Given the description of an element on the screen output the (x, y) to click on. 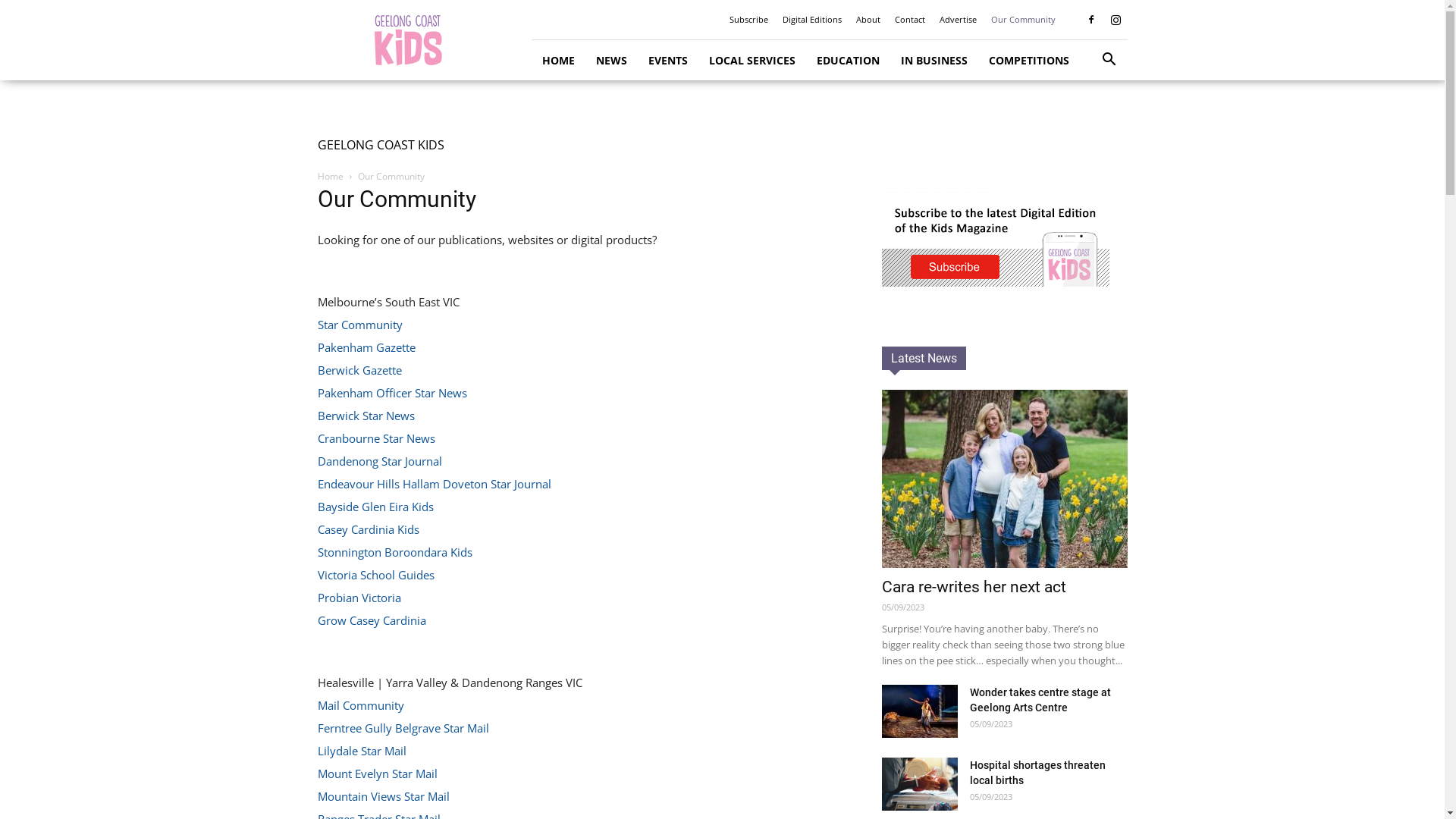
Ferntree Gully Belgrave Star Mail Element type: text (402, 727)
Mail Community Element type: text (359, 704)
Dandenong Star Journal Element type: text (378, 460)
Victoria School Guides Element type: text (374, 574)
COMPETITIONS Element type: text (1028, 60)
LOCAL SERVICES Element type: text (751, 60)
NEWS Element type: text (611, 60)
Bayside Glen Eira Kids Element type: text (374, 506)
Advertise Element type: text (956, 19)
Wonder takes centre stage at Geelong Arts Centre Element type: hover (919, 710)
Cara re-writes her next act Element type: hover (1003, 478)
Hospital shortages threaten local births Element type: hover (919, 783)
Berwick Gazette Element type: text (358, 369)
Grow Casey Cardinia Element type: text (370, 619)
Lilydale Star Mail Element type: text (360, 750)
Wonder takes centre stage at Geelong Arts Centre Element type: text (1039, 699)
Hospital shortages threaten local births Element type: text (1036, 772)
Instagram Element type: hover (1115, 19)
EVENTS Element type: text (667, 60)
Facebook Element type: hover (1090, 19)
Cara re-writes her next act Element type: text (973, 586)
Casey Cardinia Kids Element type: text (367, 528)
Berwick Star News Element type: text (365, 415)
Mountain Views Star Mail Element type: text (382, 795)
Our Community Element type: text (1022, 19)
About Element type: text (867, 19)
EDUCATION Element type: text (847, 60)
Home Element type: text (329, 175)
Star Community Element type: text (358, 324)
Cranbourne Star News Element type: text (375, 437)
Pakenham Officer Star News Element type: text (391, 392)
IN BUSINESS Element type: text (934, 60)
Subscribe Element type: text (748, 19)
Digital Editions Element type: text (811, 19)
HOME Element type: text (557, 60)
Probian Victoria Element type: text (358, 597)
Search Element type: text (1085, 122)
Mount Evelyn Star Mail Element type: text (376, 773)
Endeavour Hills Hallam Doveton Star Journal Element type: text (433, 483)
Contact Element type: text (909, 19)
Pakenham Gazette Element type: text (365, 346)
Stonnington Boroondara Kids Element type: text (393, 551)
